Given the description of an element on the screen output the (x, y) to click on. 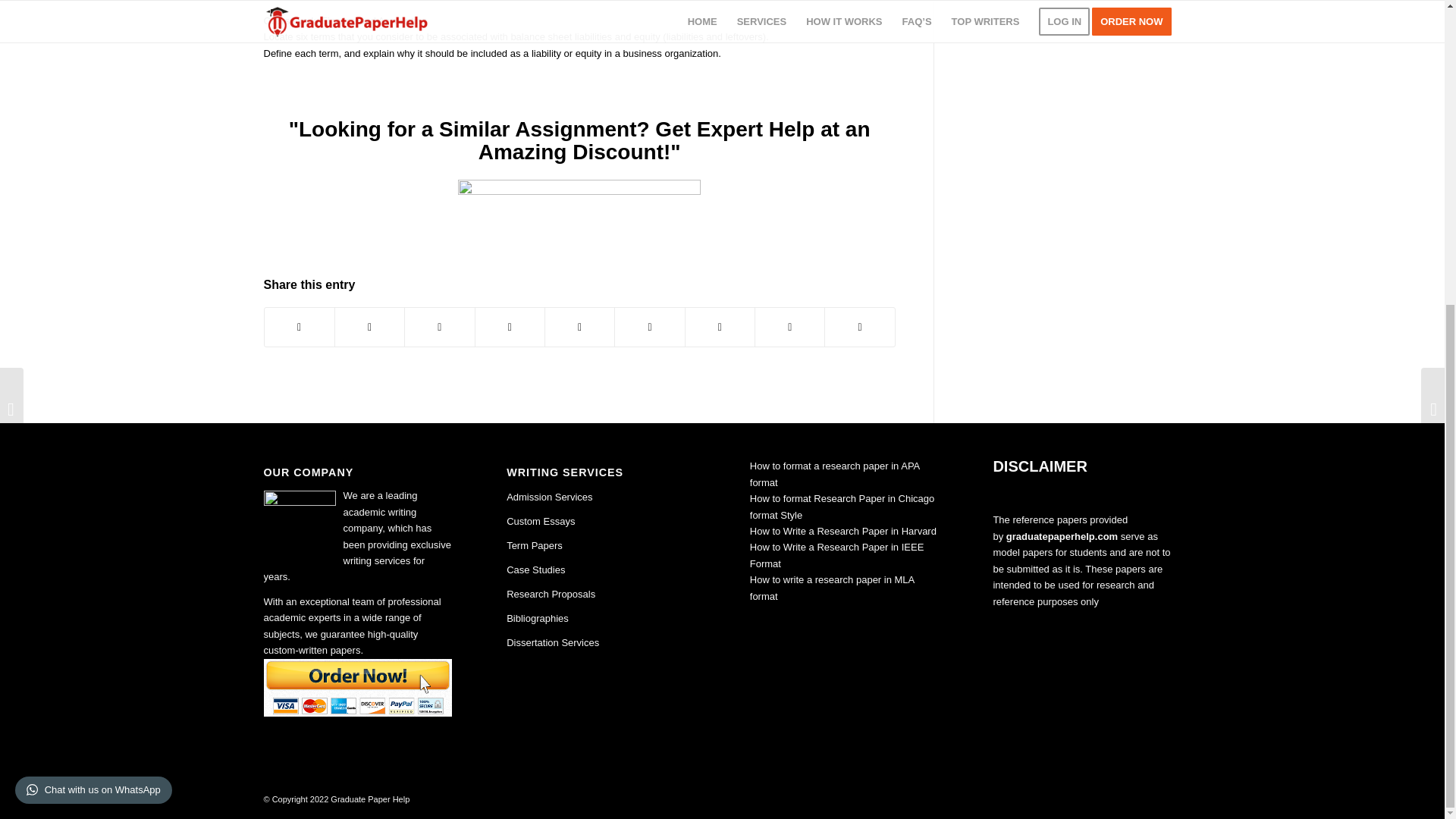
How to Write a Research Paper in IEEE Format (836, 554)
How to write a research paper in MLA format (831, 587)
Admission Services (549, 496)
How to format Research Paper in Chicago format Style (841, 506)
Term Papers (534, 545)
How to format a research paper in APA format (834, 473)
Custom Essays (540, 521)
Case Studies (535, 569)
Bibliographies (537, 618)
How to Write a Research Paper in Harvard (842, 531)
Dissertation Services (552, 642)
Research Proposals (550, 593)
